Given the description of an element on the screen output the (x, y) to click on. 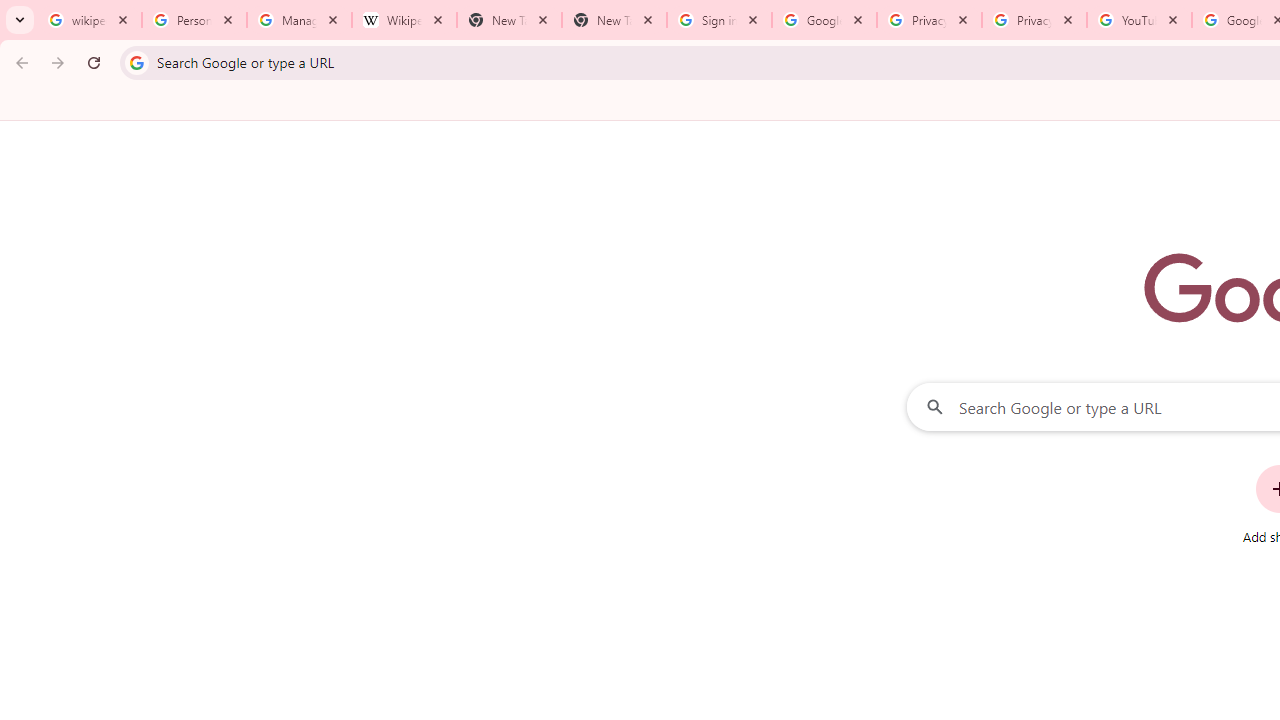
Manage your Location History - Google Search Help (299, 20)
Search icon (136, 62)
Wikipedia:Edit requests - Wikipedia (404, 20)
YouTube (1138, 20)
Reload (93, 62)
Google Drive: Sign-in (823, 20)
Search tabs (20, 20)
New Tab (613, 20)
Back (19, 62)
Sign in - Google Accounts (718, 20)
Forward (57, 62)
